Given the description of an element on the screen output the (x, y) to click on. 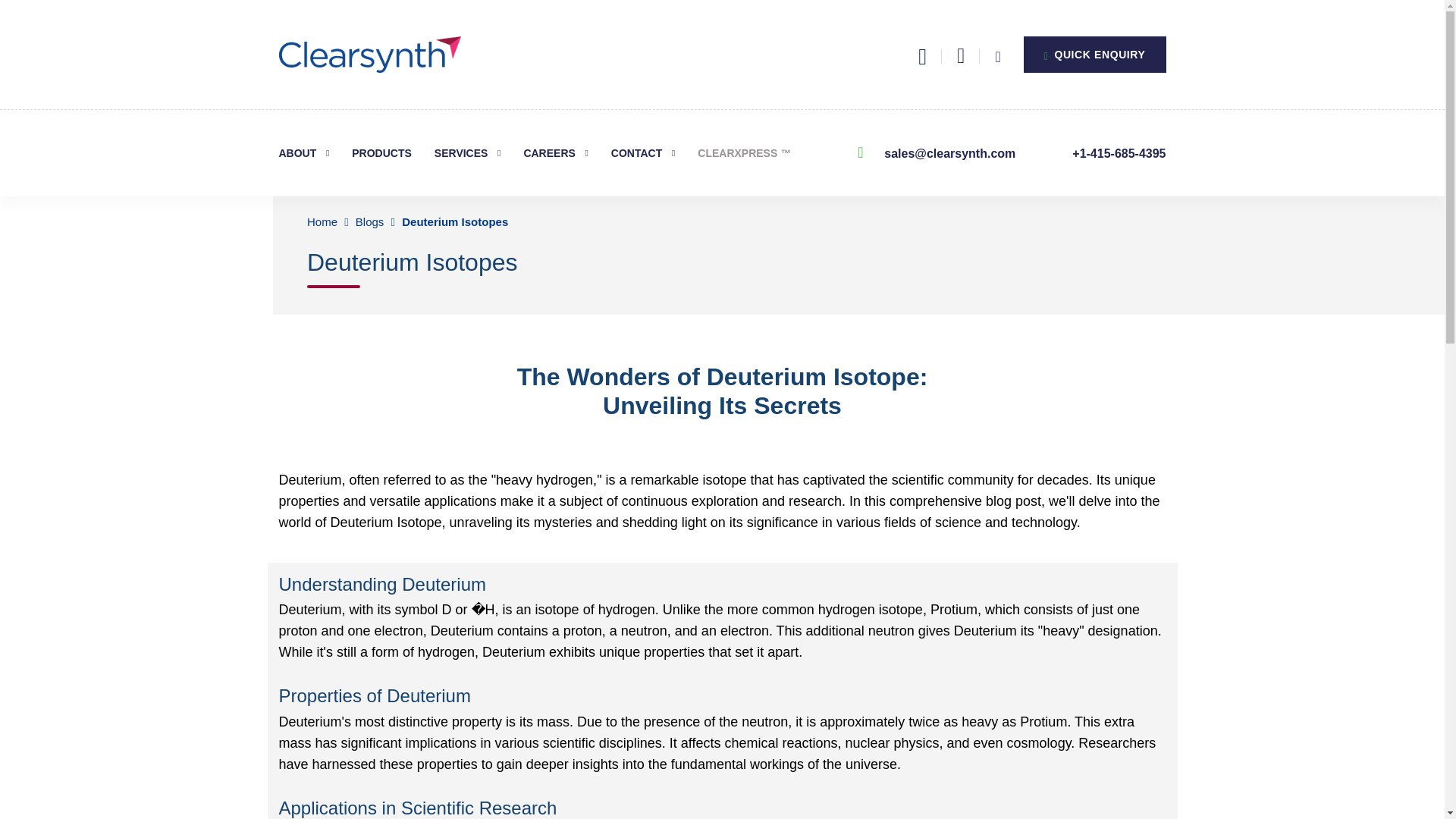
CONTACT (643, 153)
ABOUT (304, 153)
SERVICES (466, 153)
QUICK ENQUIRY (1094, 54)
PRODUCTS (382, 153)
CAREERS (555, 153)
